Given the description of an element on the screen output the (x, y) to click on. 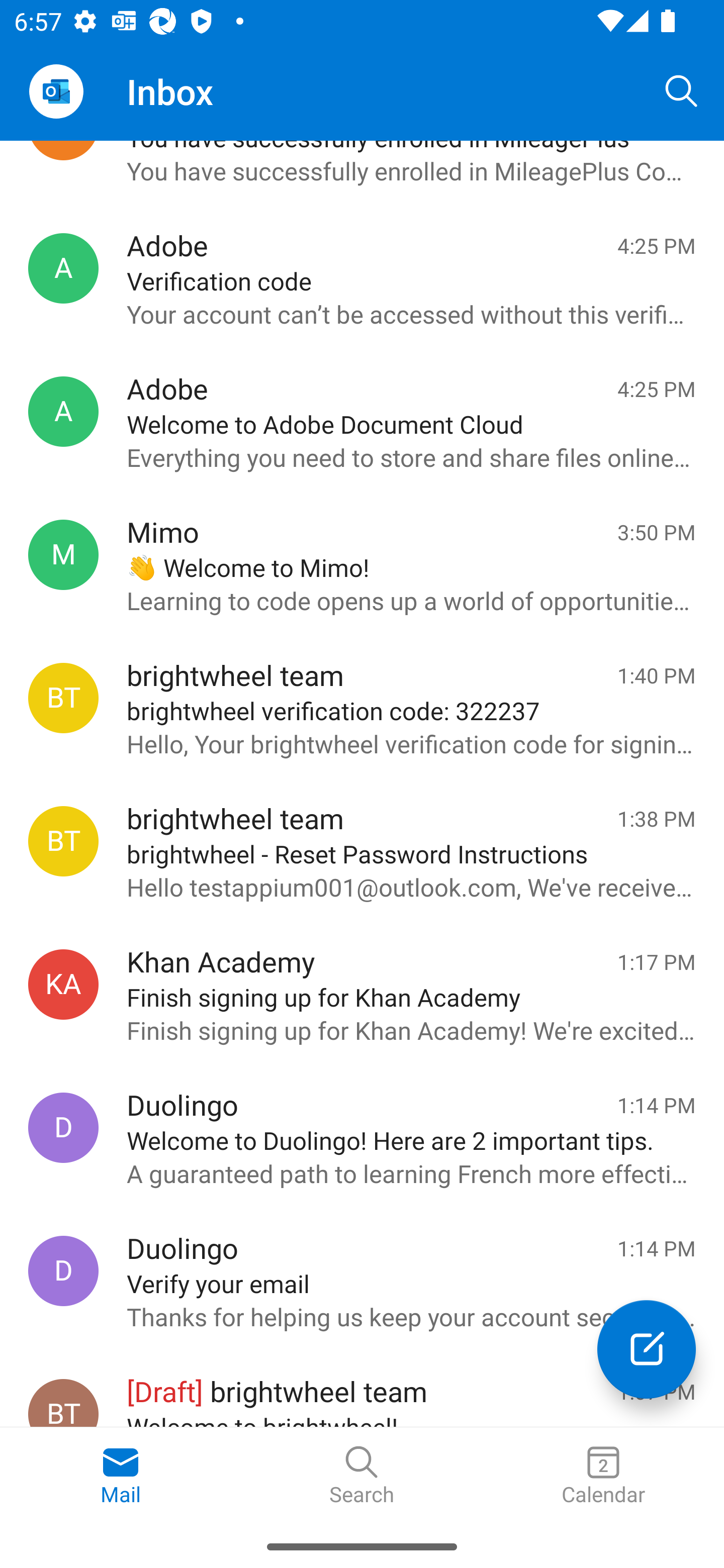
Search (681, 90)
Open Navigation Drawer (55, 91)
Adobe, message@adobe.com (63, 268)
Adobe, message@adobe.com (63, 411)
Mimo, support@getmimo.com (63, 554)
brightwheel team, recovery@mybrightwheel.com (63, 698)
brightwheel team, recovery@mybrightwheel.com (63, 840)
Khan Academy, no-reply@khanacademy.org (63, 983)
Duolingo, hello@duolingo.com (63, 1127)
Duolingo, hello@duolingo.com (63, 1270)
Compose (646, 1348)
Search (361, 1475)
Calendar (603, 1475)
